Given the description of an element on the screen output the (x, y) to click on. 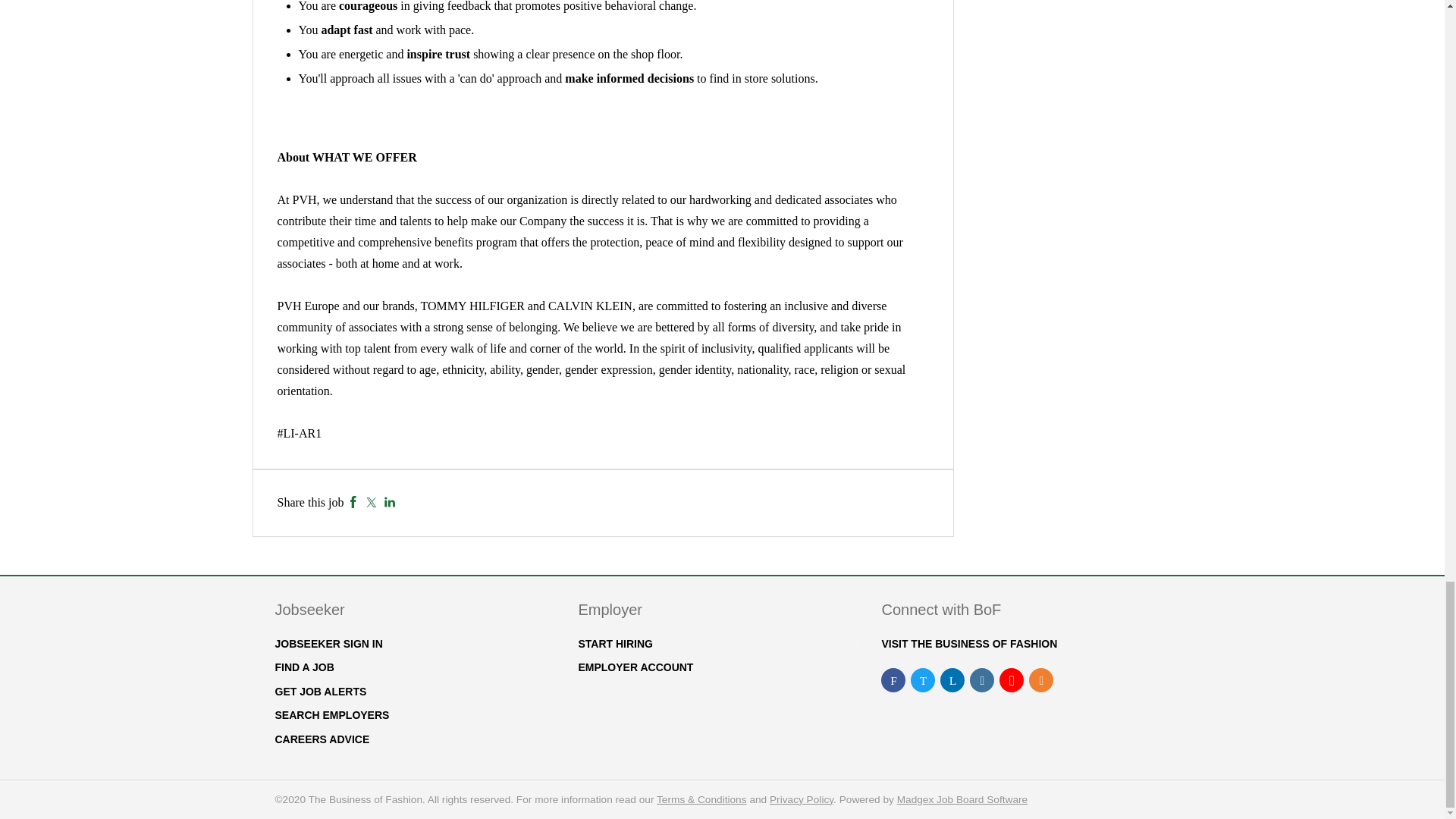
GET JOB ALERTS (320, 691)
LinkedIn (390, 502)
Twitter (371, 502)
JOBSEEKER SIGN IN (328, 644)
FIND A JOB (304, 666)
CAREERS ADVICE (322, 739)
SEARCH EMPLOYERS (331, 715)
Facebook (353, 502)
START HIRING (615, 644)
